Given the description of an element on the screen output the (x, y) to click on. 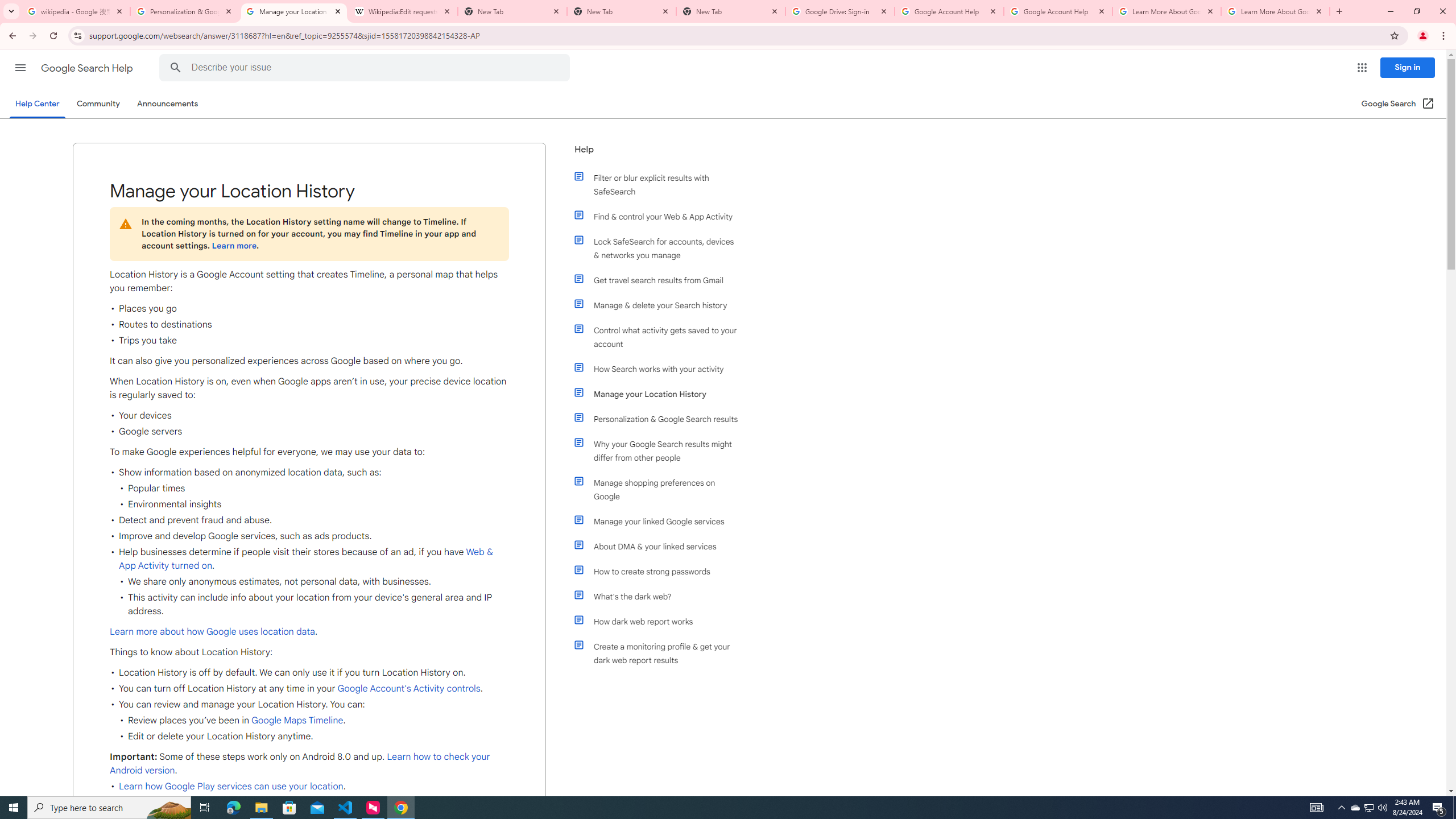
Learn how Google Play services can use your location (231, 785)
Manage your linked Google services (661, 521)
Google Search (Open in a new window) (1398, 103)
Personalization & Google Search results - Google Search Help (184, 11)
Community (97, 103)
What's the dark web? (661, 596)
Google Drive: Sign-in (839, 11)
New Tab (621, 11)
